Given the description of an element on the screen output the (x, y) to click on. 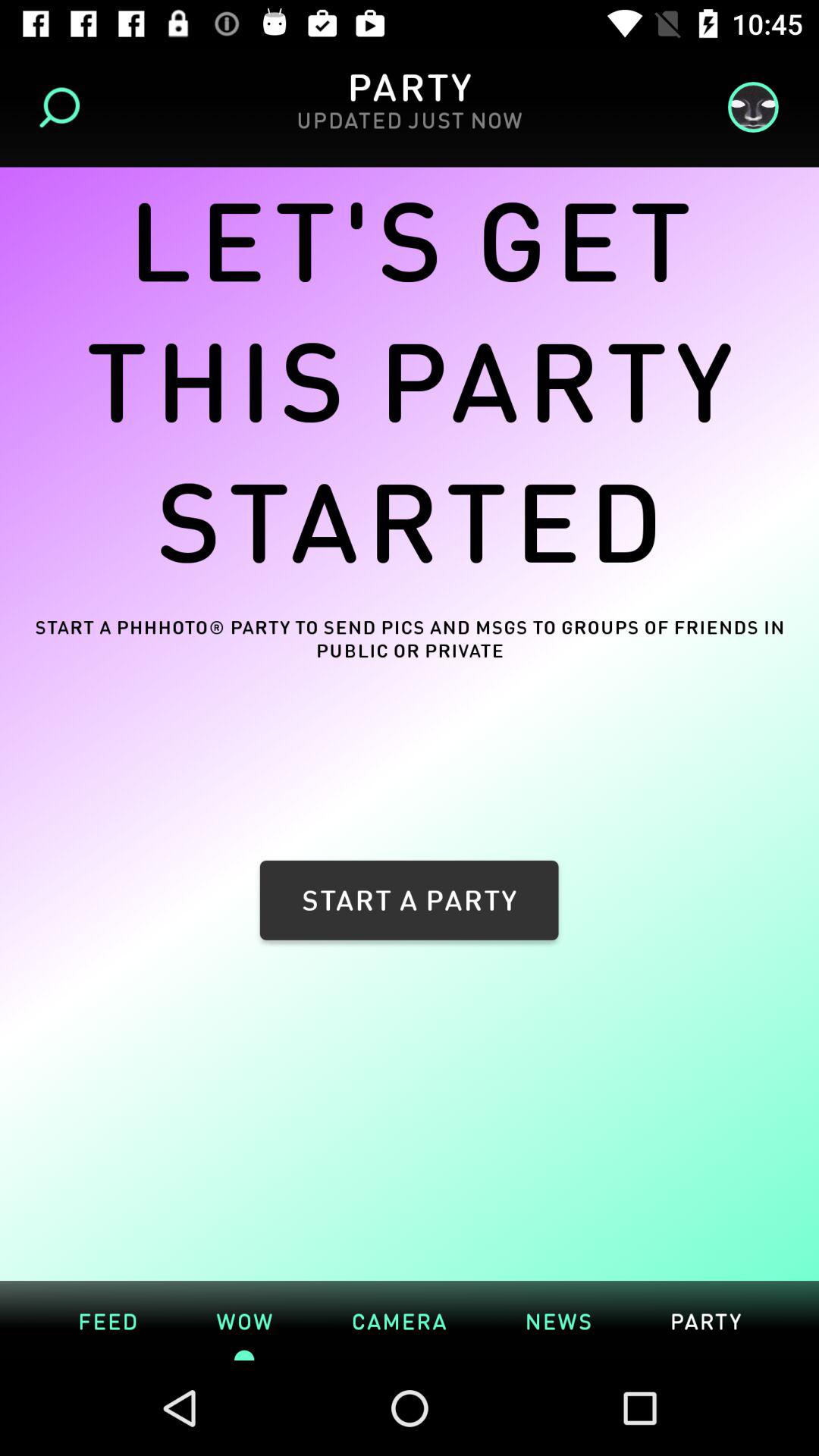
choose the updated just now icon (408, 129)
